Given the description of an element on the screen output the (x, y) to click on. 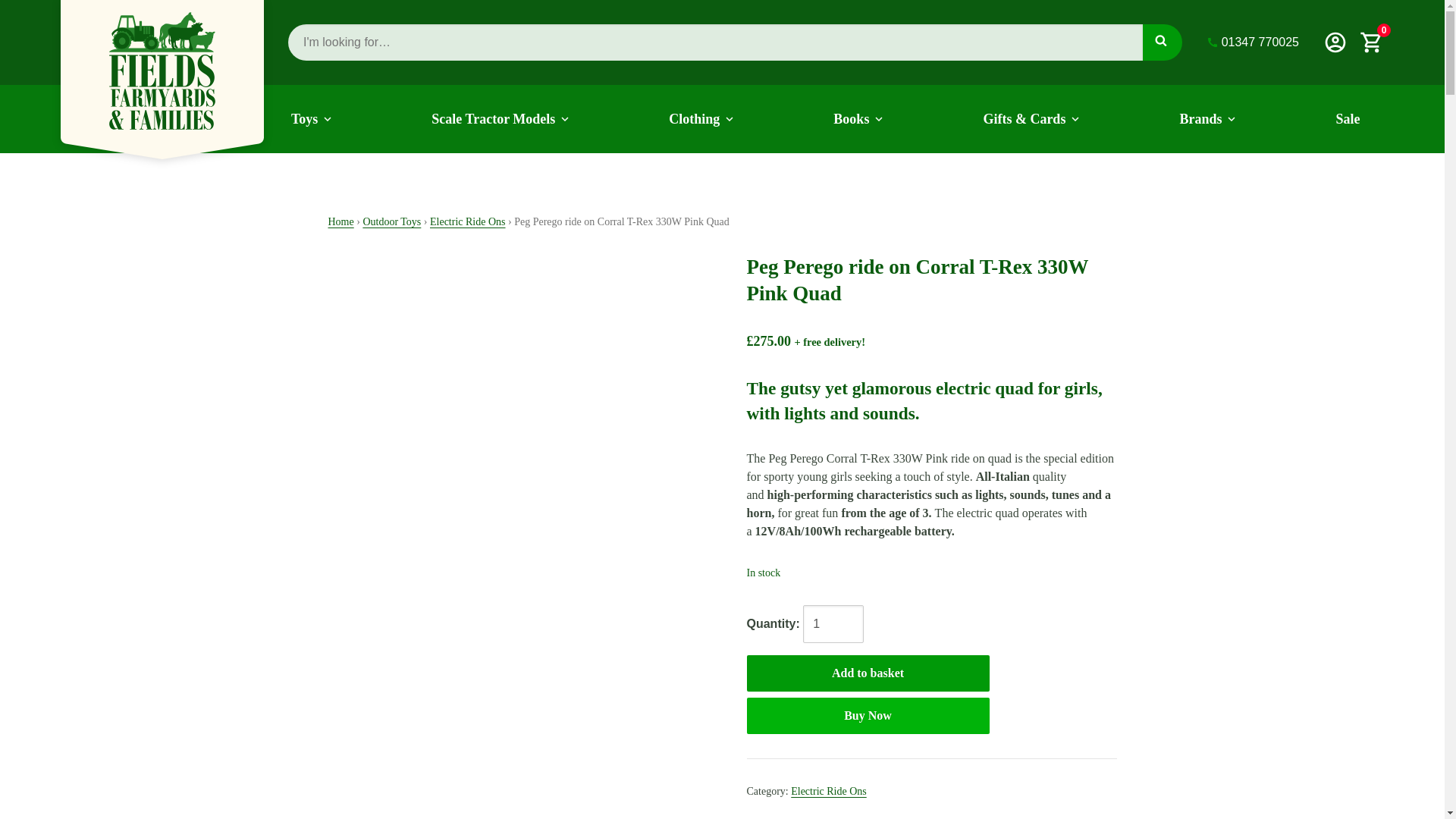
Toys (310, 119)
Scale Tractor Models (499, 119)
1 (833, 623)
View basket (1371, 42)
Your Account (1335, 42)
